Given the description of an element on the screen output the (x, y) to click on. 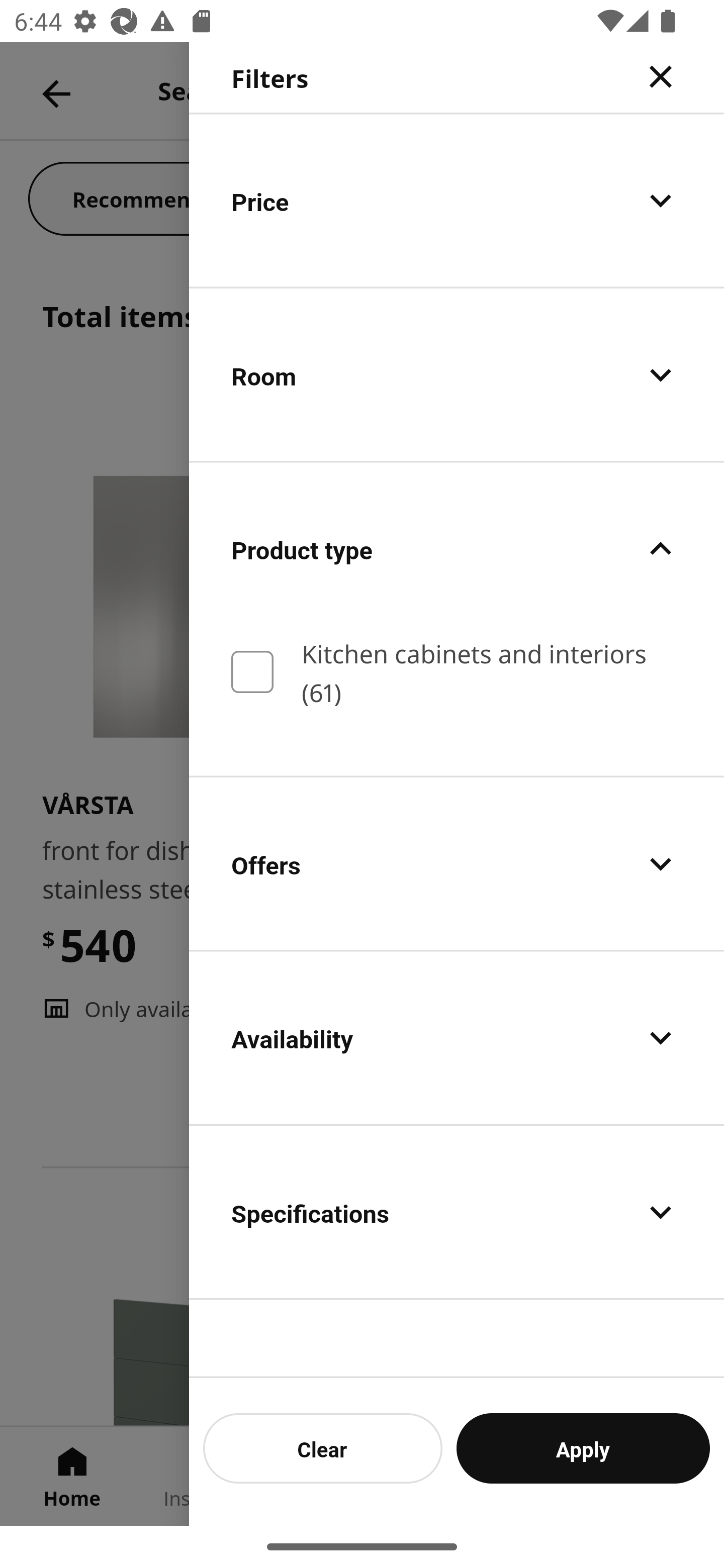
Price (456, 200)
Room (456, 374)
Product type (456, 548)
Kitchen cabinets and interiors (61) (456, 671)
Offers (456, 863)
Availability (456, 1037)
Specifications (456, 1211)
Clear (322, 1447)
Apply (583, 1447)
